Given the description of an element on the screen output the (x, y) to click on. 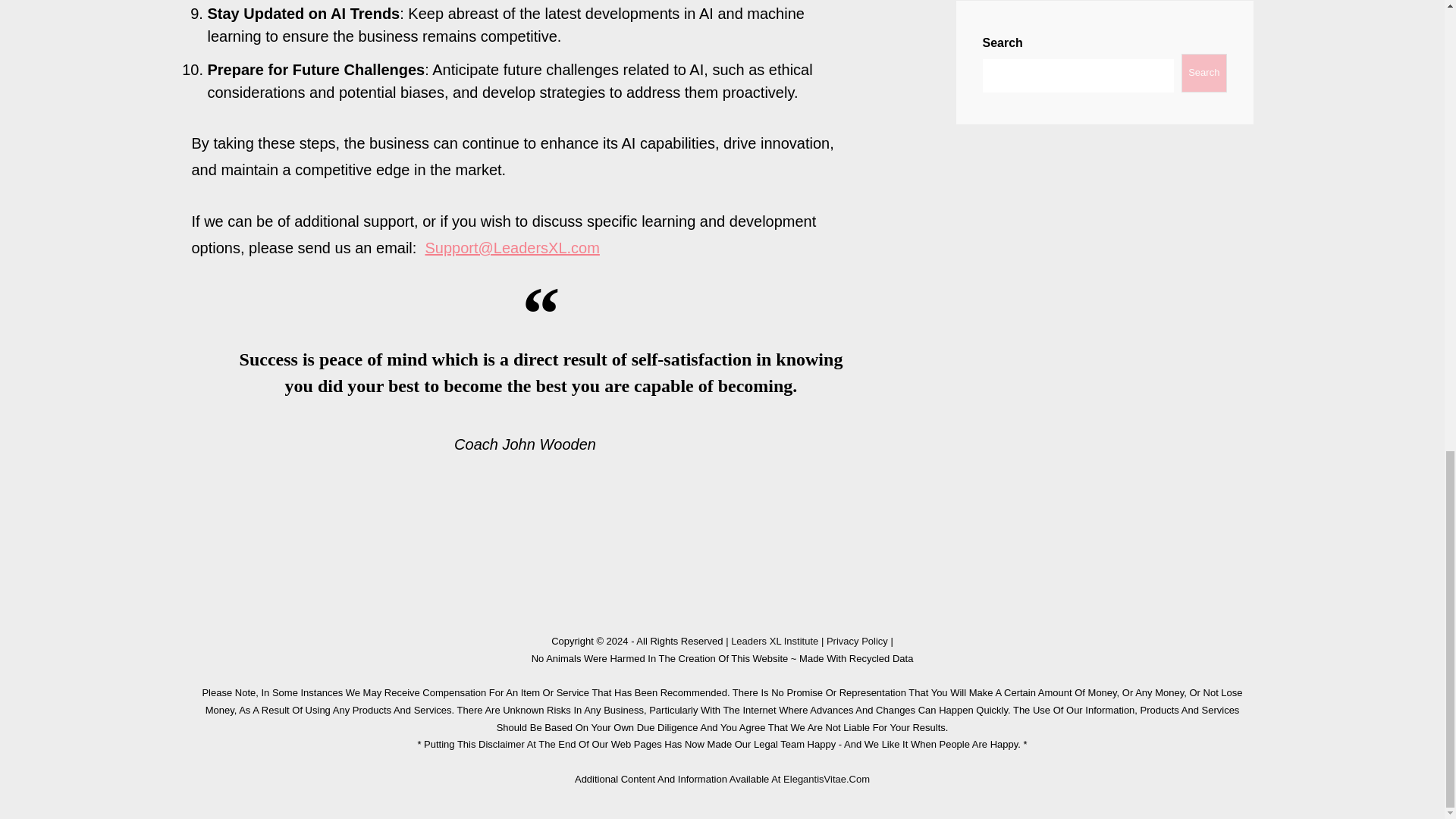
Leaders XL Institute (774, 641)
Search (1202, 73)
Privacy Policy (857, 641)
ElegantisVitae.Com (826, 778)
